Given the description of an element on the screen output the (x, y) to click on. 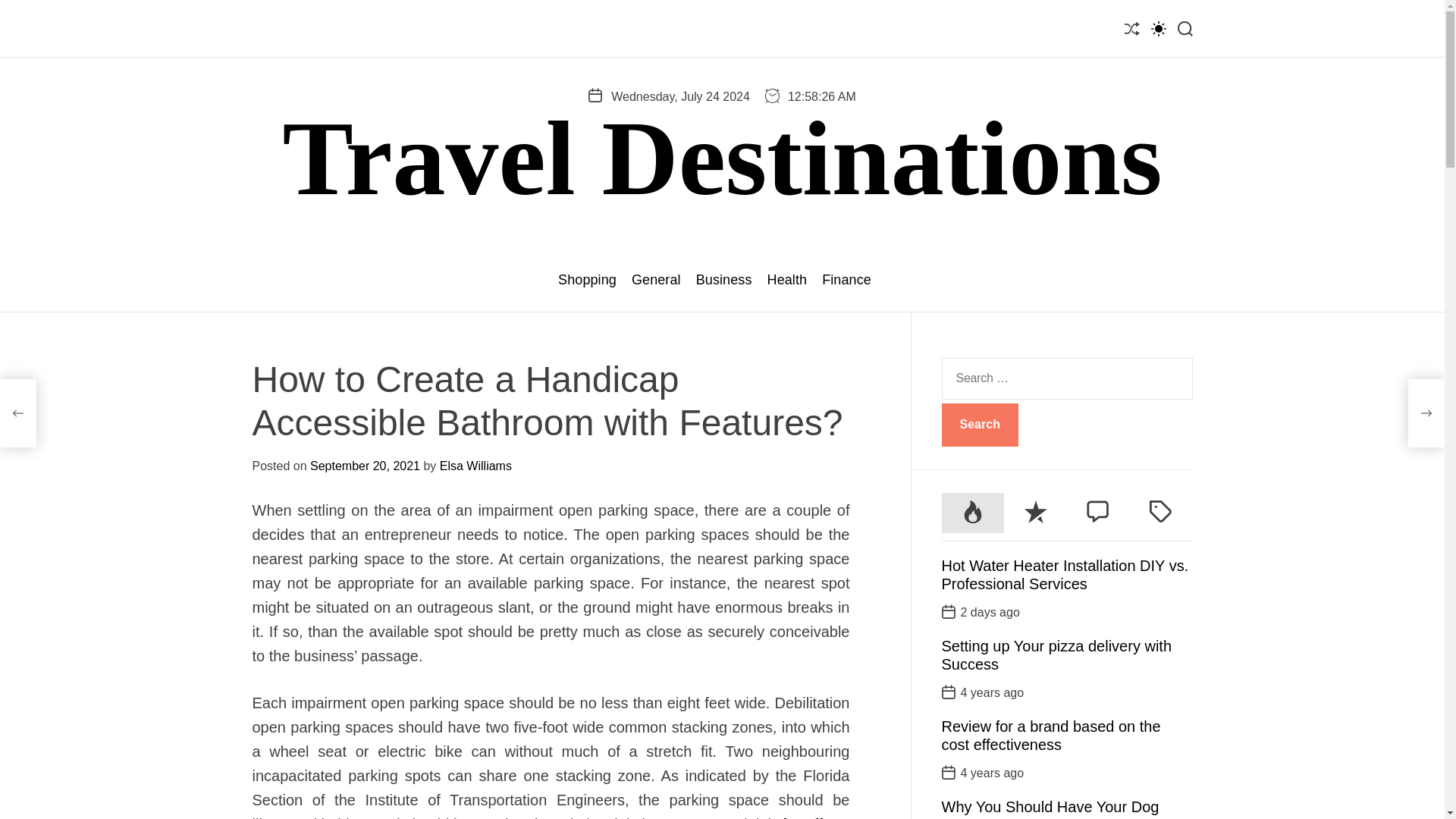
Review for a brand based on the cost effectiveness (1051, 735)
Shopping (586, 280)
Search (979, 424)
Setting up Your pizza delivery with Success (1057, 655)
Search (979, 424)
Recent (1035, 513)
Finance (846, 280)
Travel Destinations (721, 158)
Comment (1098, 513)
Elsa Williams (475, 465)
Popular (973, 513)
Search (979, 424)
Health (787, 280)
September 20, 2021 (365, 465)
